Given the description of an element on the screen output the (x, y) to click on. 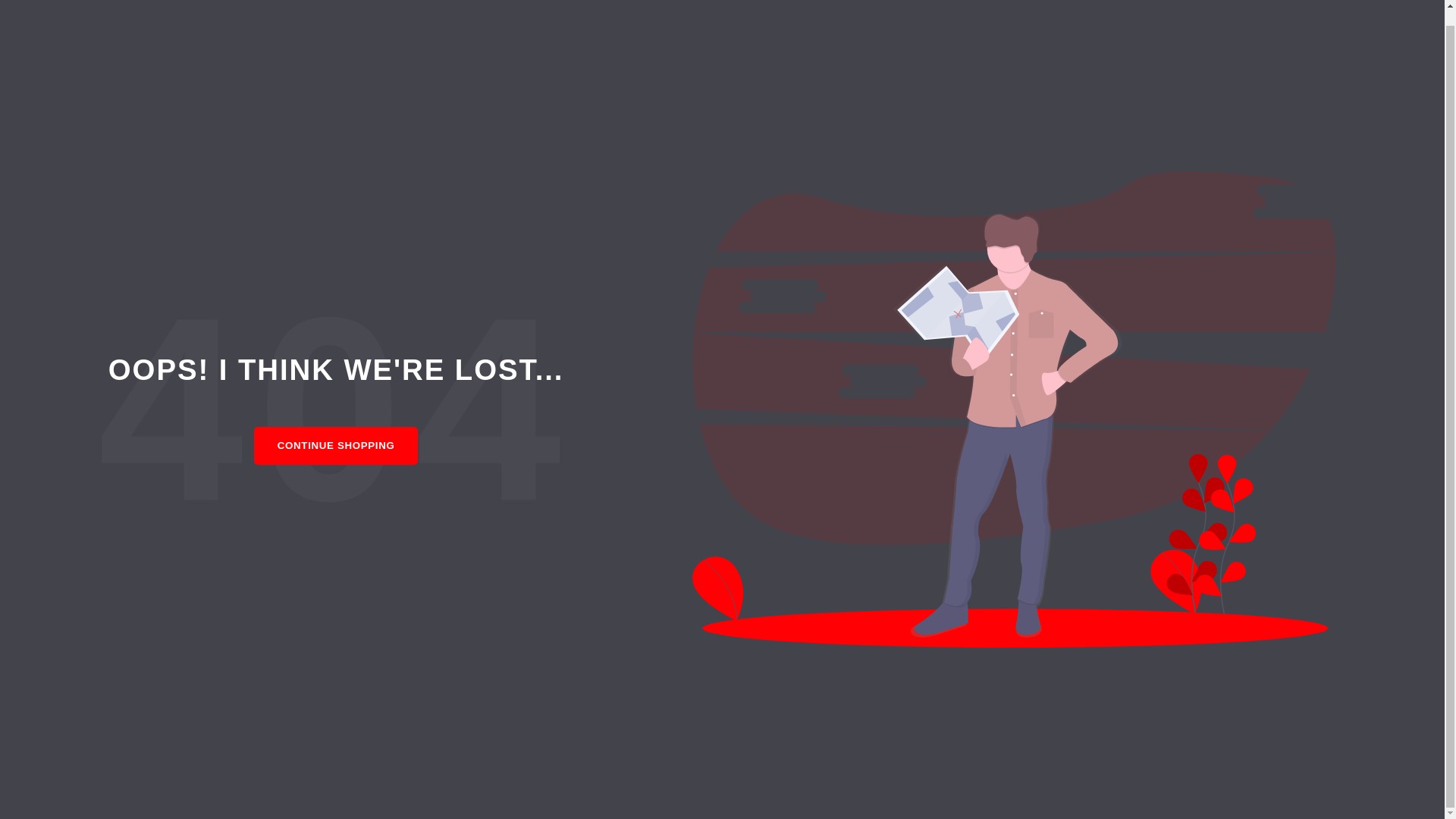
CONTINUE SHOPPING (336, 445)
